Given the description of an element on the screen output the (x, y) to click on. 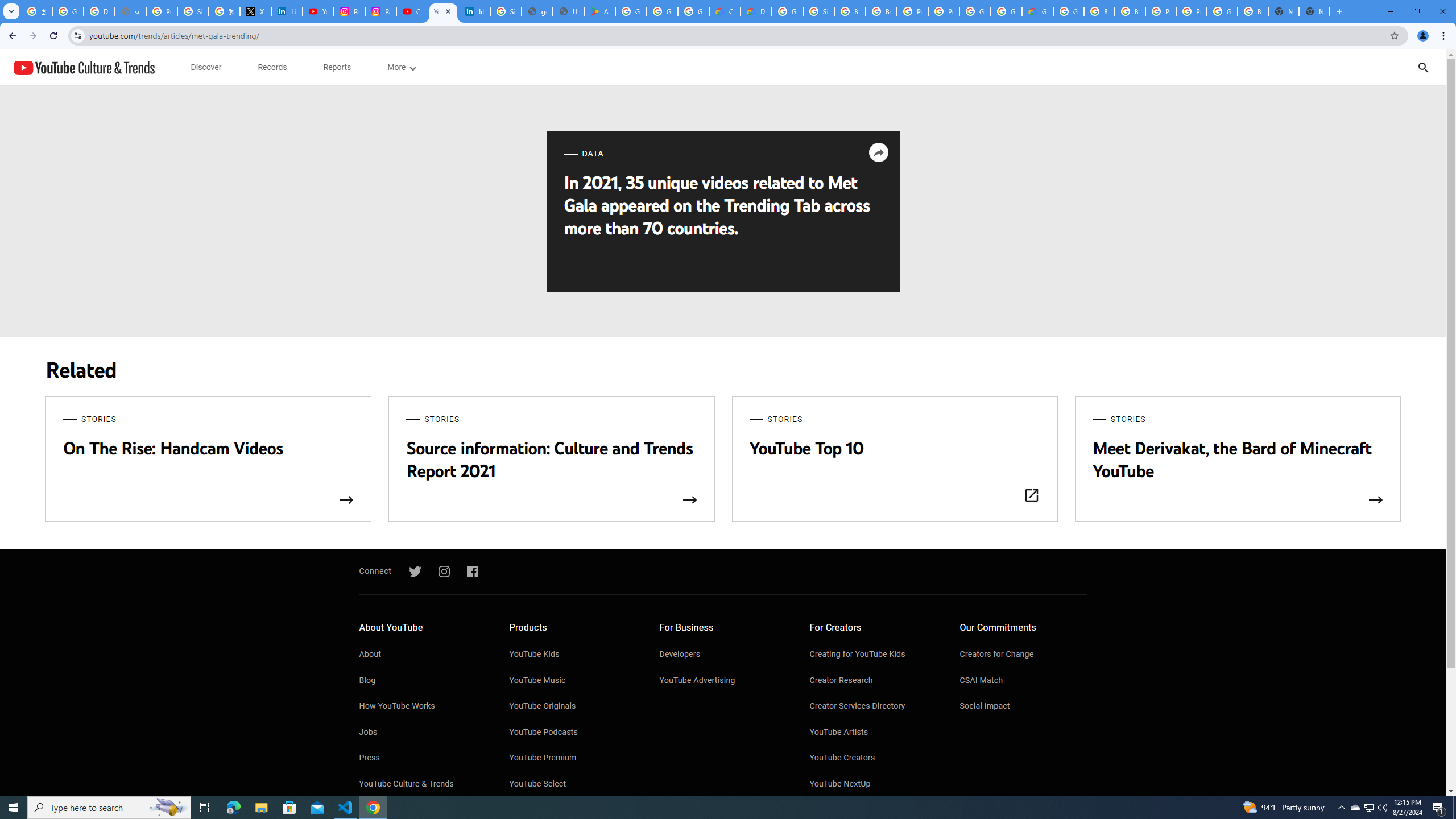
STORIES Meet Derivakat, the Bard of Minecraft YouTube (1237, 459)
Browse Chrome as a guest - Computer - Google Chrome Help (1098, 11)
STORIES YouTube Top 10 (894, 459)
subnav-Records menupopup (271, 67)
subnav-Reports menupopup (336, 67)
Creator Services Directory (873, 706)
Creators for Change (1023, 655)
Press (422, 758)
